Given the description of an element on the screen output the (x, y) to click on. 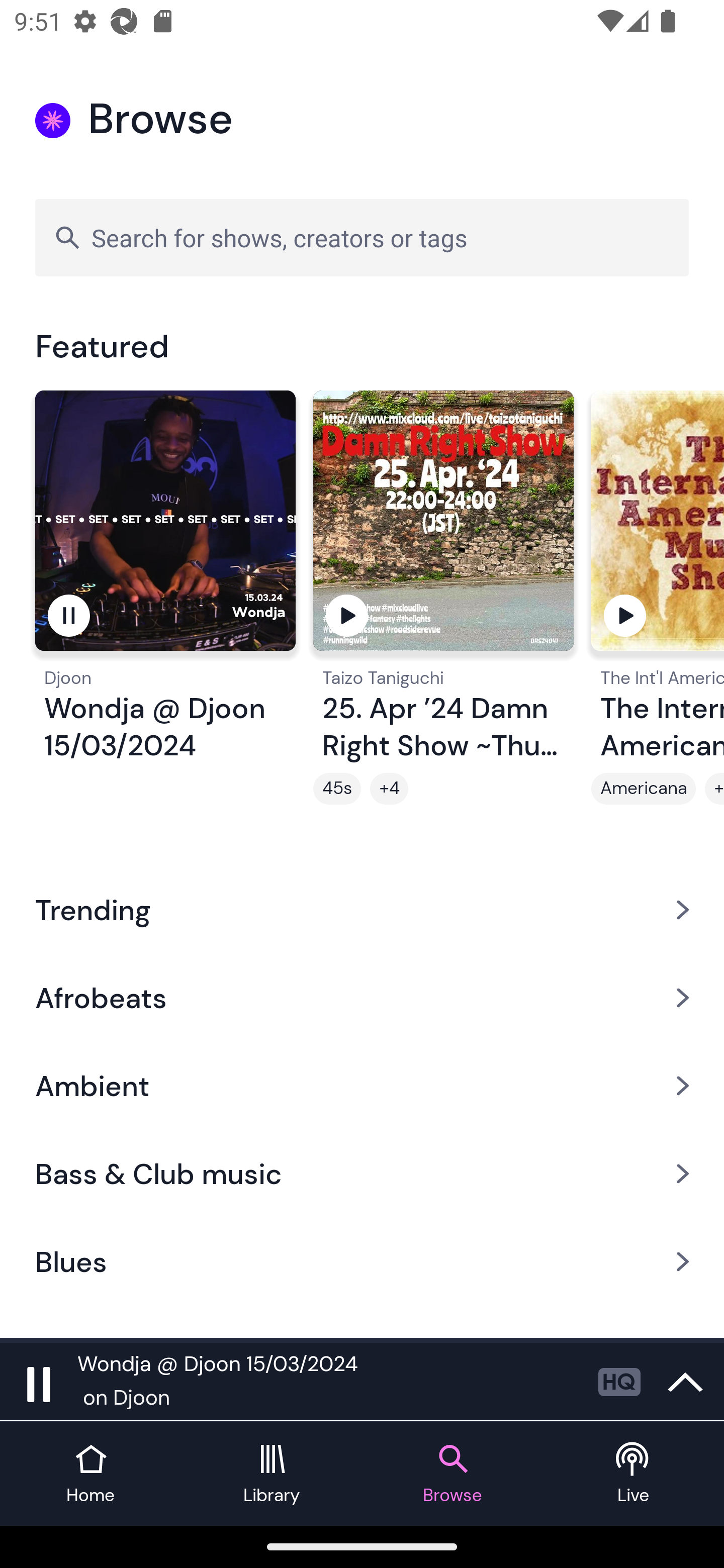
Search for shows, creators or tags (361, 237)
45s (337, 788)
Americana (643, 788)
Trending (361, 909)
Afrobeats (361, 997)
Ambient (361, 1085)
Bass & Club music (361, 1174)
Blues (361, 1262)
Home tab Home (90, 1473)
Library tab Library (271, 1473)
Browse tab Browse (452, 1473)
Live tab Live (633, 1473)
